Given the description of an element on the screen output the (x, y) to click on. 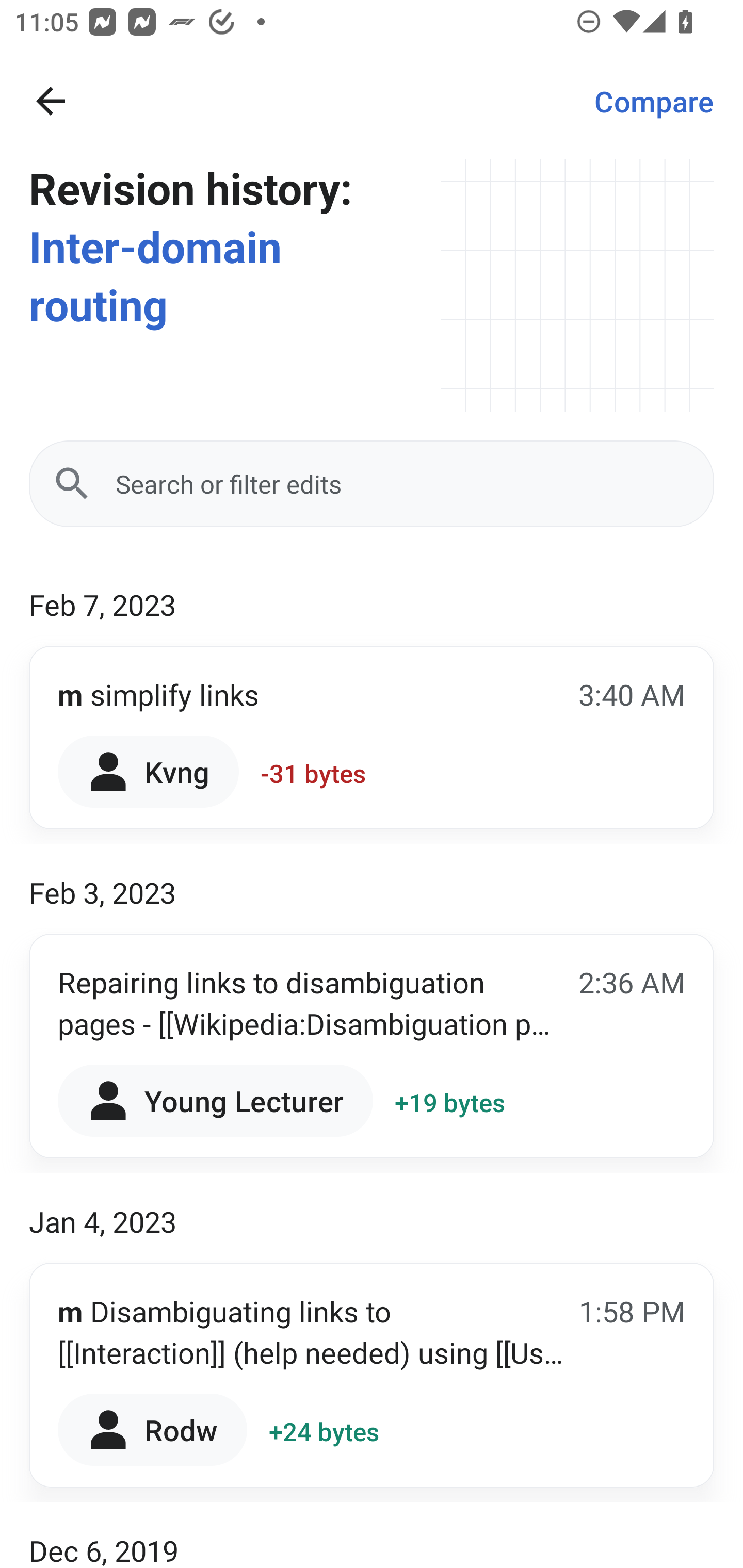
Navigate up (50, 101)
Compare (654, 101)
Search or filter edits (371, 483)
m simplify links 3:40 AM Kvng -31 bytes (371, 737)
Kvng (148, 771)
Young Lecturer (214, 1100)
Rodw (152, 1429)
